Given the description of an element on the screen output the (x, y) to click on. 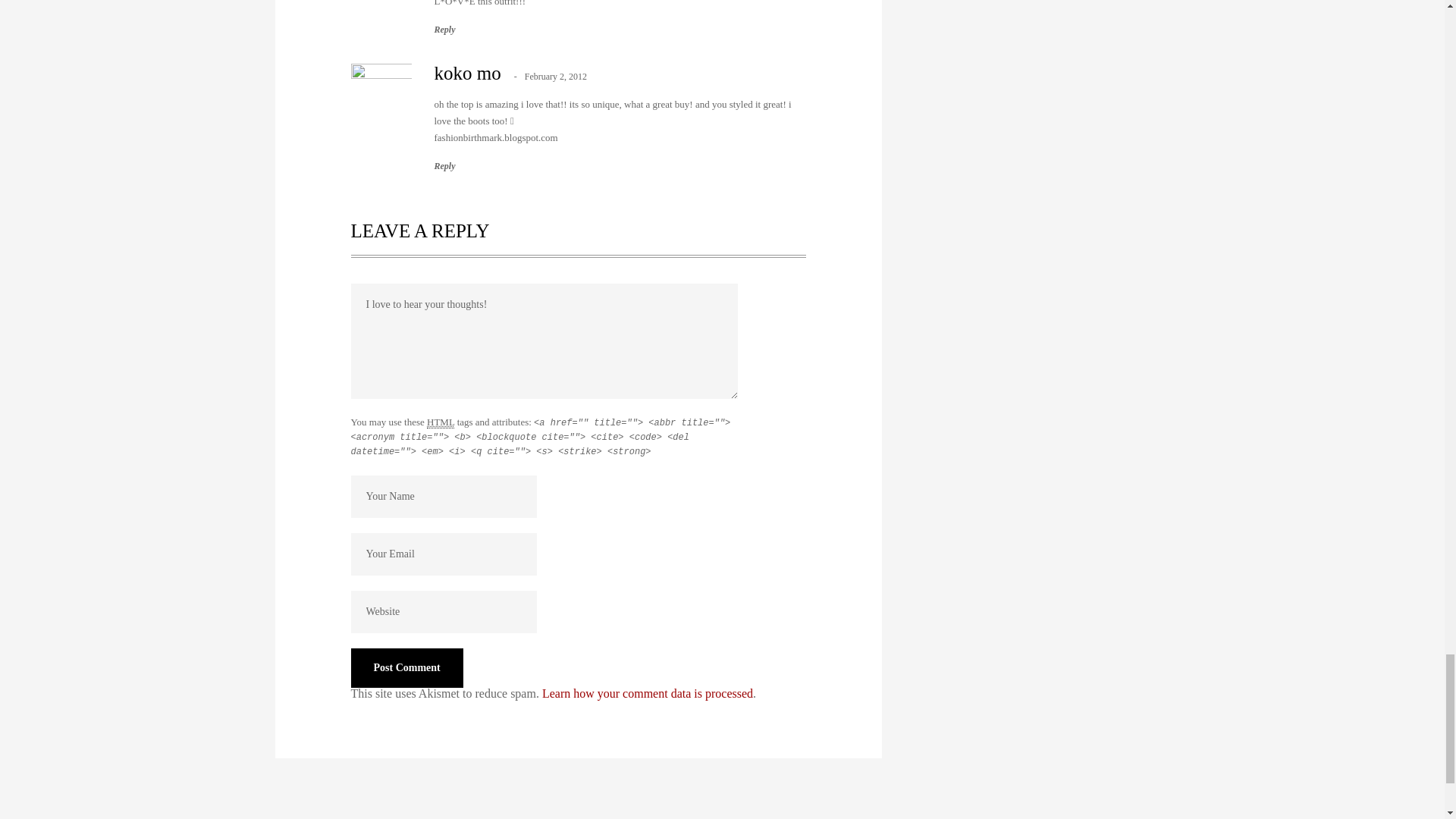
HyperText Markup Language (440, 422)
Your Name (442, 496)
Your Email (442, 554)
Website (442, 611)
Post Comment (406, 667)
